Given the description of an element on the screen output the (x, y) to click on. 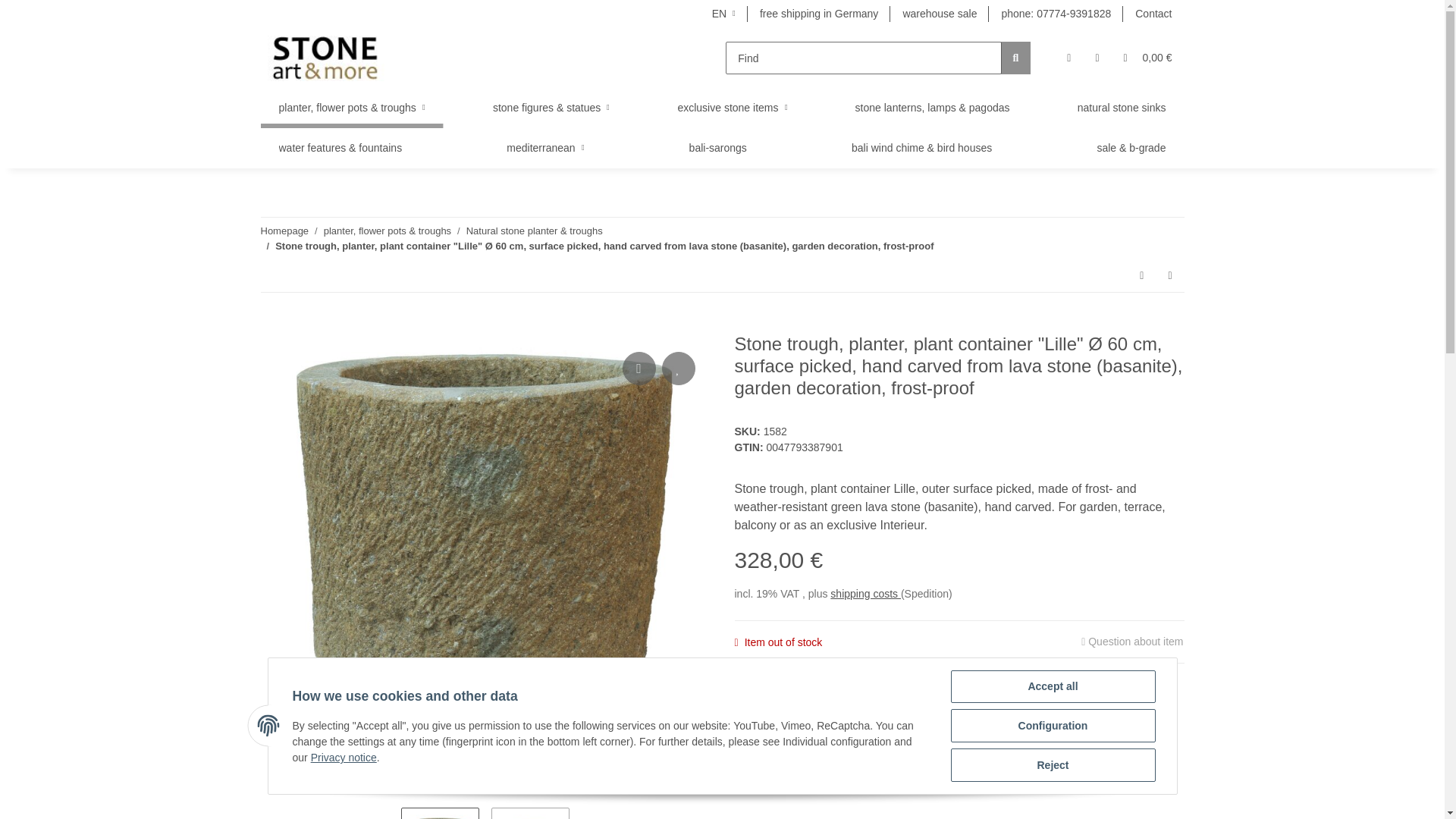
Contact-Form (1152, 13)
natural stone sinks (1122, 107)
Contact (1152, 13)
bali-sarongs (718, 147)
EN (724, 13)
natural stone sinks (1122, 107)
free shipping in Germany (818, 13)
mediterranean (544, 147)
phone: 07774-9391828 (1055, 13)
exclusive stone items (732, 107)
exclusive  stone items (732, 107)
warehouse sale (938, 13)
